Given the description of an element on the screen output the (x, y) to click on. 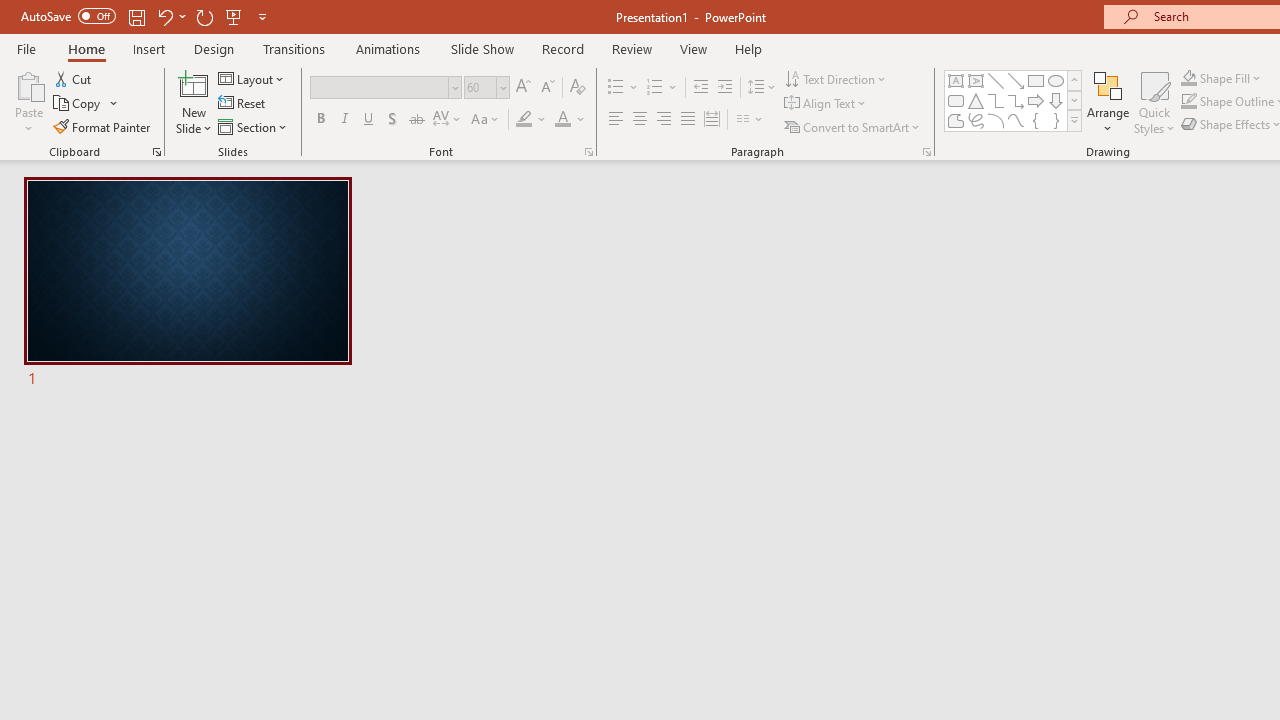
Undo (170, 15)
Text Highlight Color (531, 119)
Line (995, 80)
Font (379, 87)
Distributed (712, 119)
System (10, 11)
View (693, 48)
Vertical Text Box (975, 80)
Review (631, 48)
Reset (243, 103)
Text Direction (836, 78)
